Given the description of an element on the screen output the (x, y) to click on. 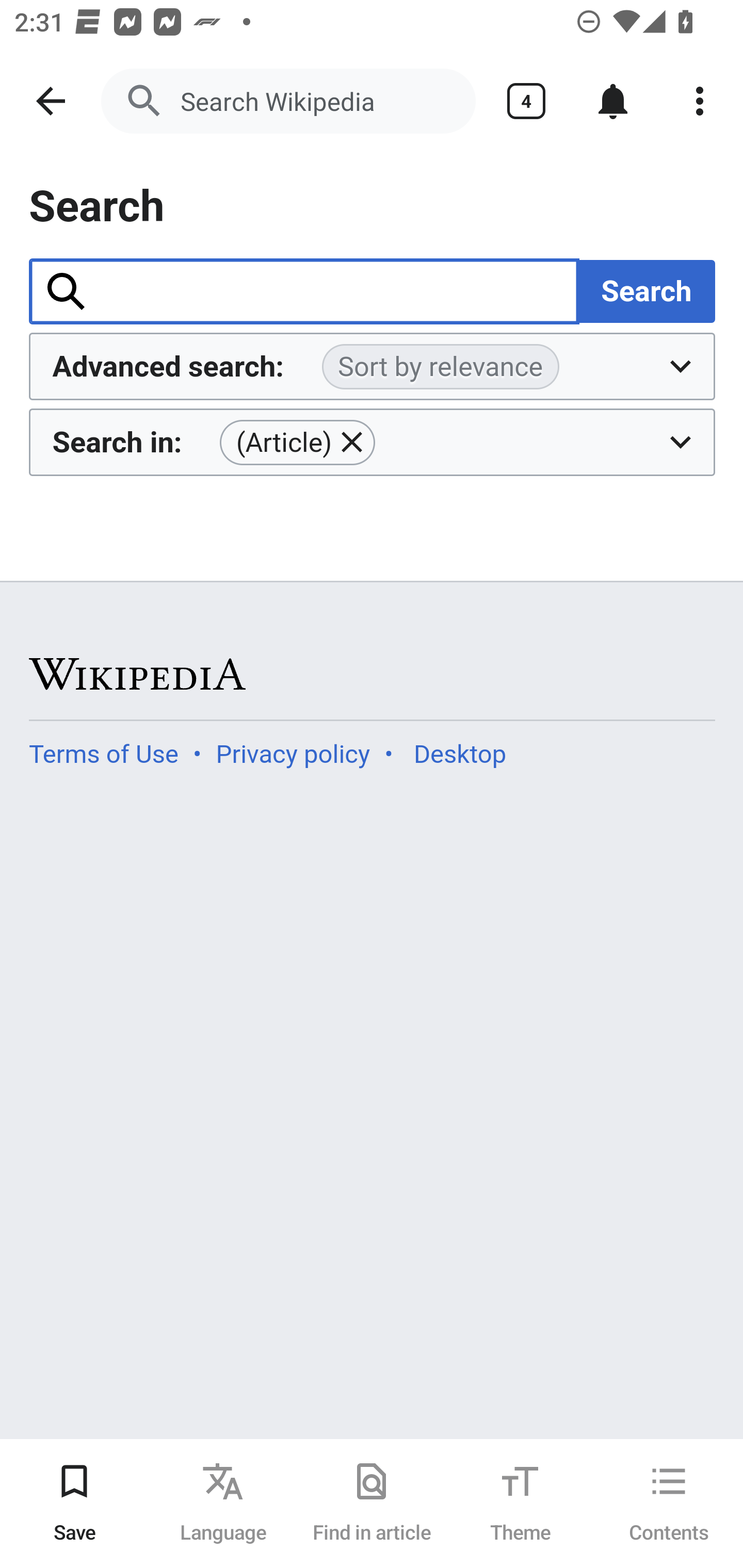
Show tabs 4 (525, 100)
Notifications (612, 100)
Navigate up (50, 101)
More options (699, 101)
Search Wikipedia (288, 100)
Search (645, 290)
Advanced search:Sort by relevance (372, 366)
Search in:(Article) Remove (372, 441)
Terms of Use (104, 753)
Privacy policy (293, 753)
Desktop (459, 753)
Save (74, 1502)
Language (222, 1502)
Find in article (371, 1502)
Theme (519, 1502)
Contents (668, 1502)
